Given the description of an element on the screen output the (x, y) to click on. 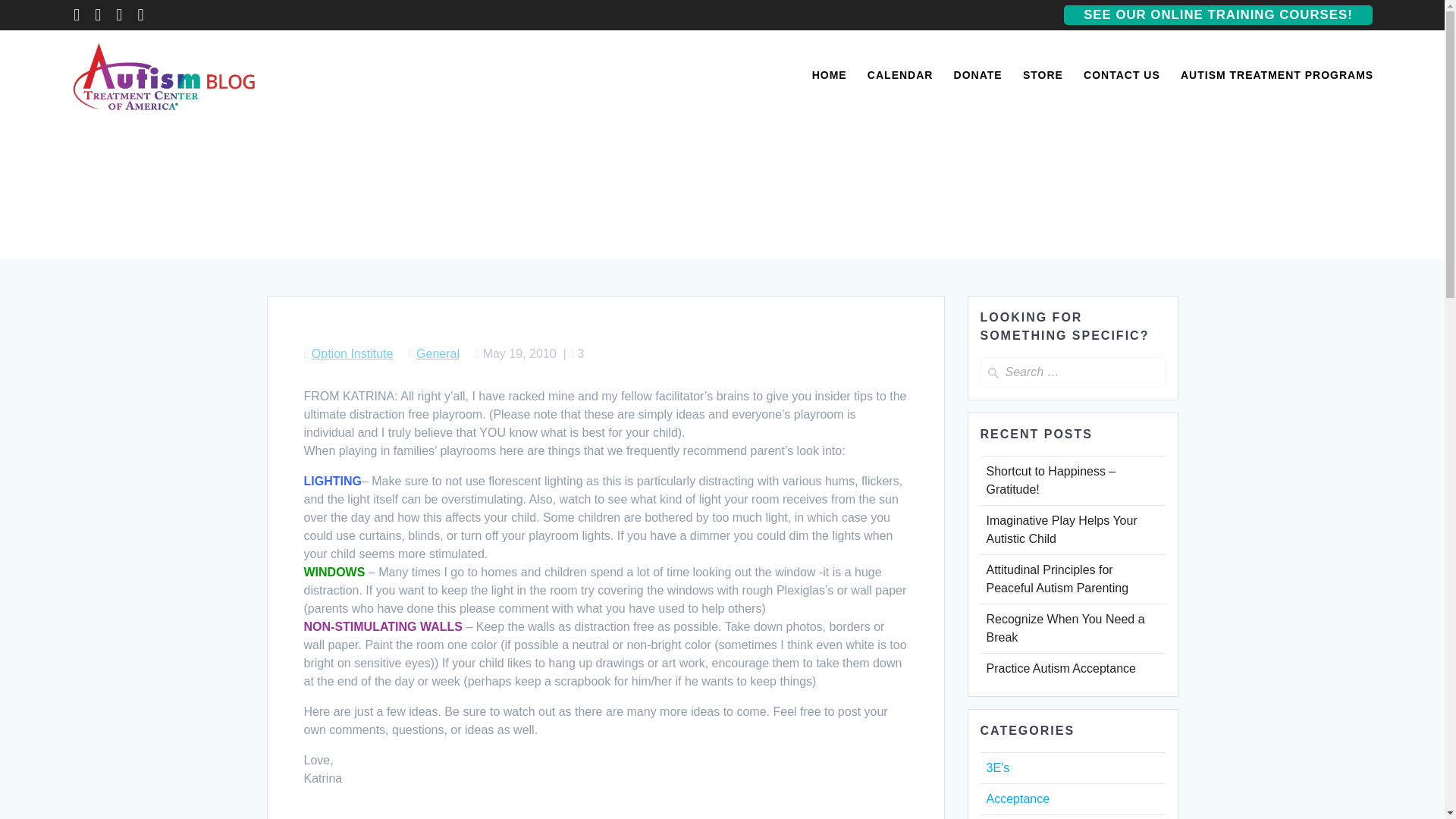
Posts by Option Institute (352, 353)
STORE (1042, 75)
General (438, 353)
AUTISM TREATMENT PROGRAMS (1276, 75)
HOME (829, 75)
DONATE (978, 75)
CALENDAR (900, 75)
SEE OUR ONLINE TRAINING COURSES! (1218, 14)
Option Institute (352, 353)
CONTACT US (1121, 75)
